Given the description of an element on the screen output the (x, y) to click on. 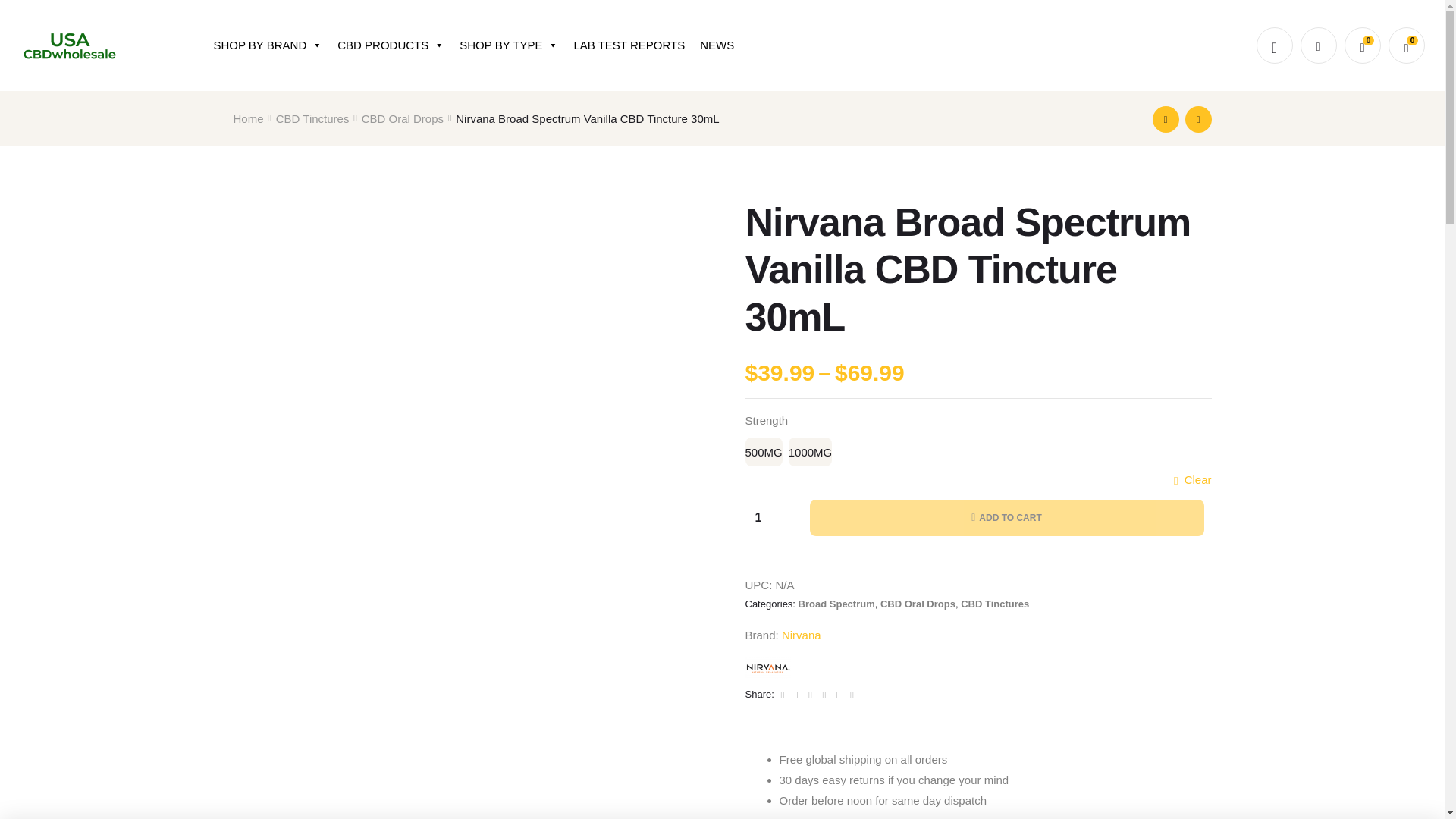
Share on Google plus (825, 694)
1000MG (810, 451)
500MG (762, 451)
Share on Twitter (797, 694)
SHOP BY BRAND (267, 45)
CBD PRODUCTS (390, 45)
View your shopping cart (1407, 45)
Email to a Friend (851, 694)
Share on Pinterest (838, 694)
Share on facebook (783, 694)
